Given the description of an element on the screen output the (x, y) to click on. 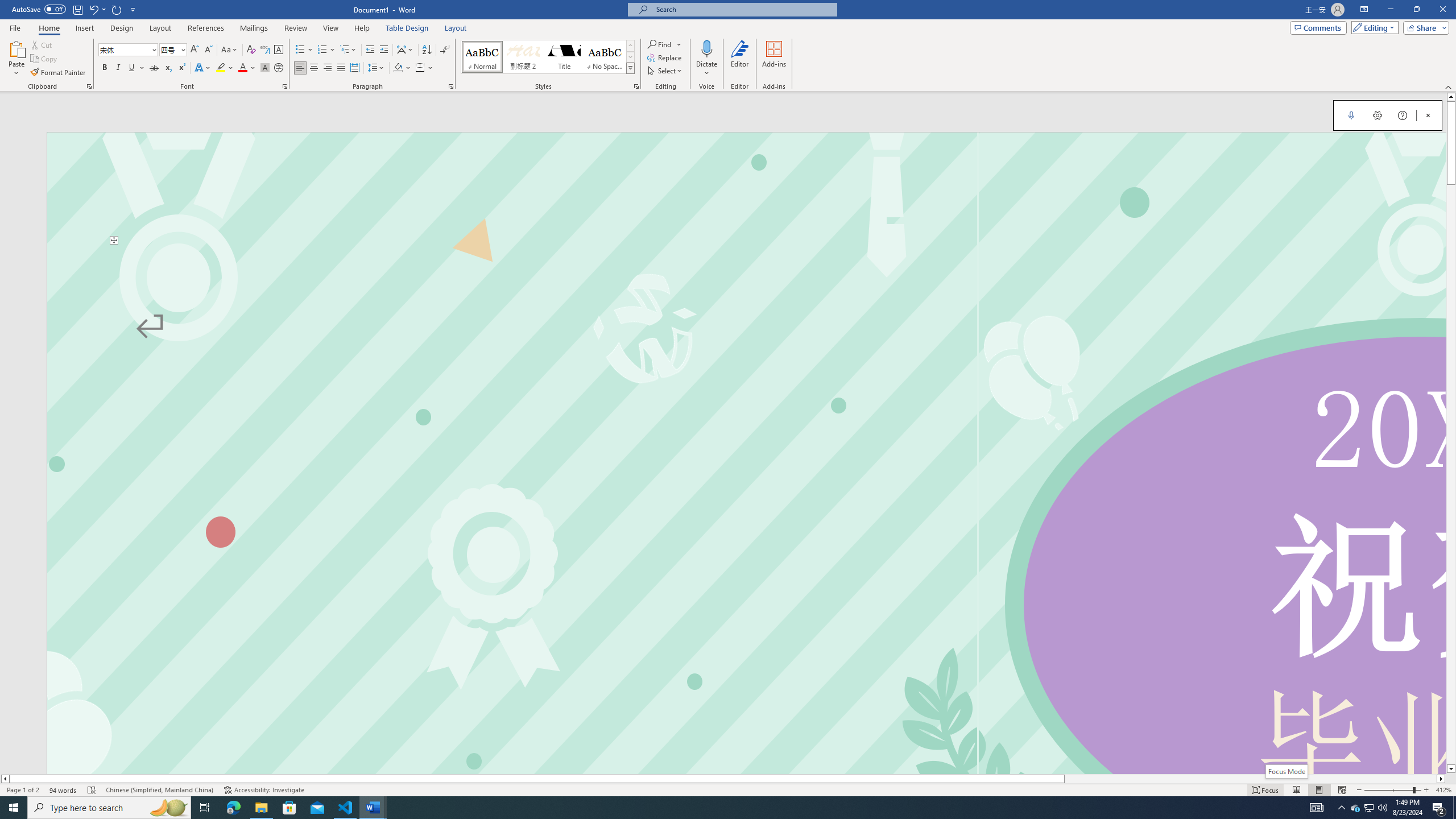
Page right (1250, 778)
Page Number Page 1 of 2 (22, 790)
Column right (1441, 778)
